Given the description of an element on the screen output the (x, y) to click on. 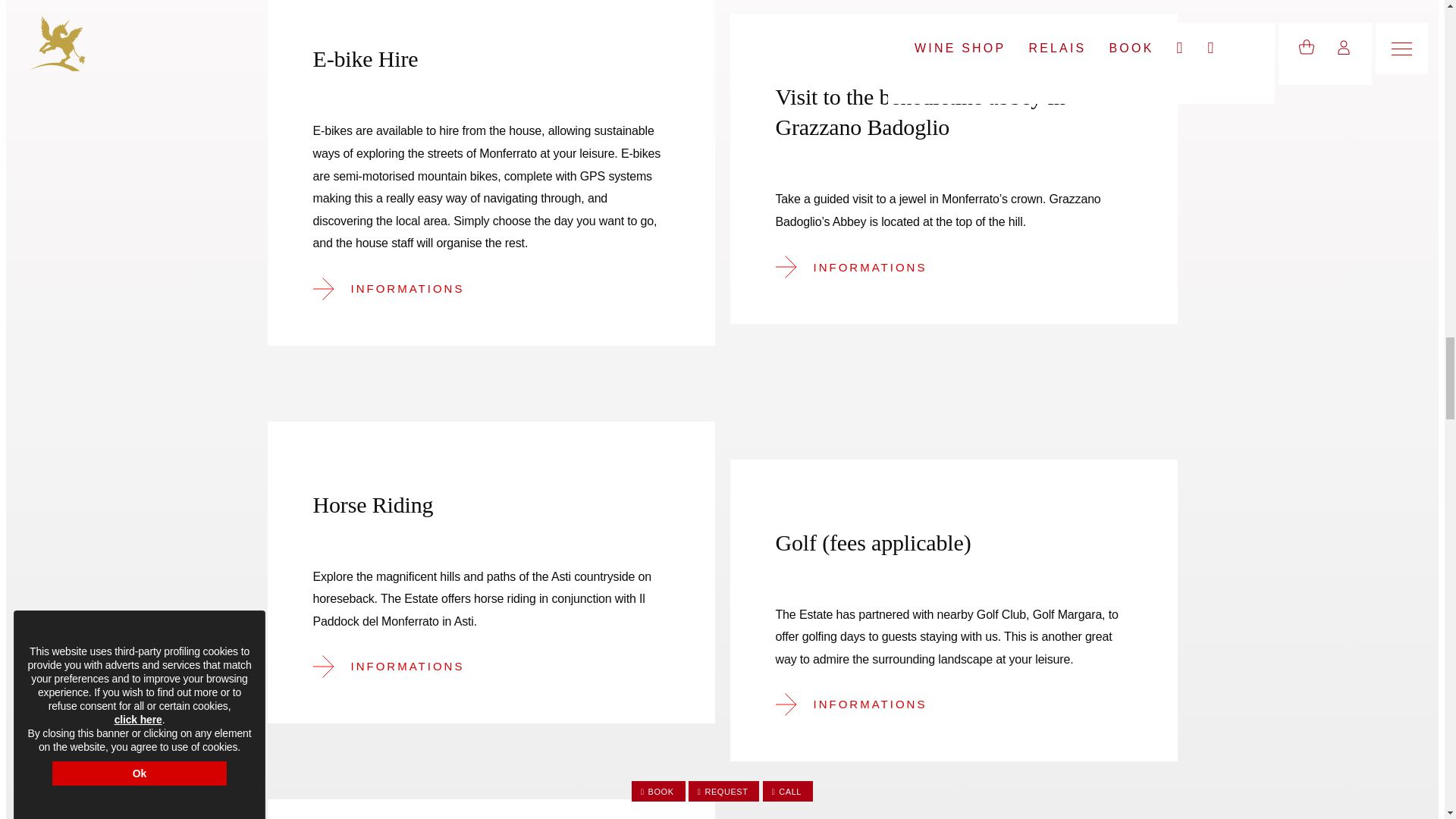
INFORMATIONS (861, 267)
